Given the description of an element on the screen output the (x, y) to click on. 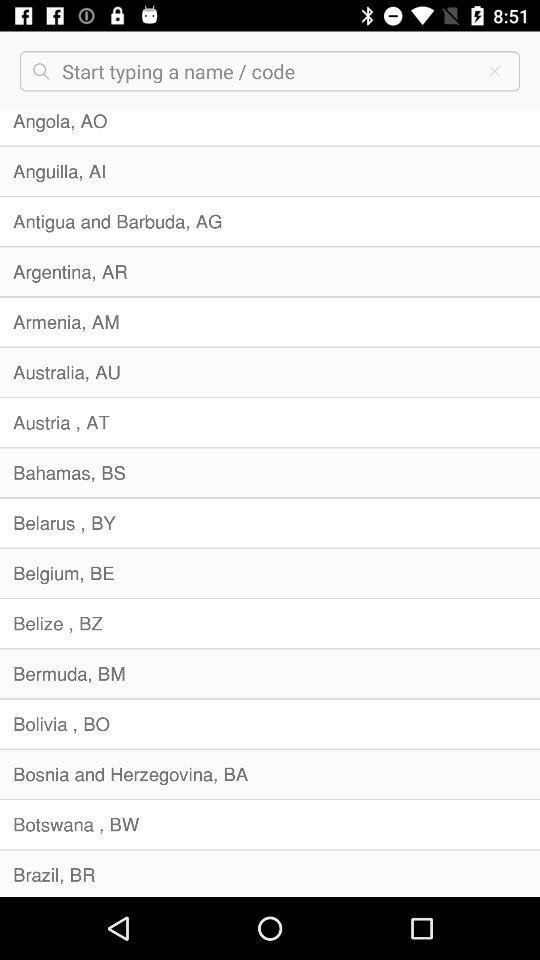
erase search bar text (494, 71)
